Given the description of an element on the screen output the (x, y) to click on. 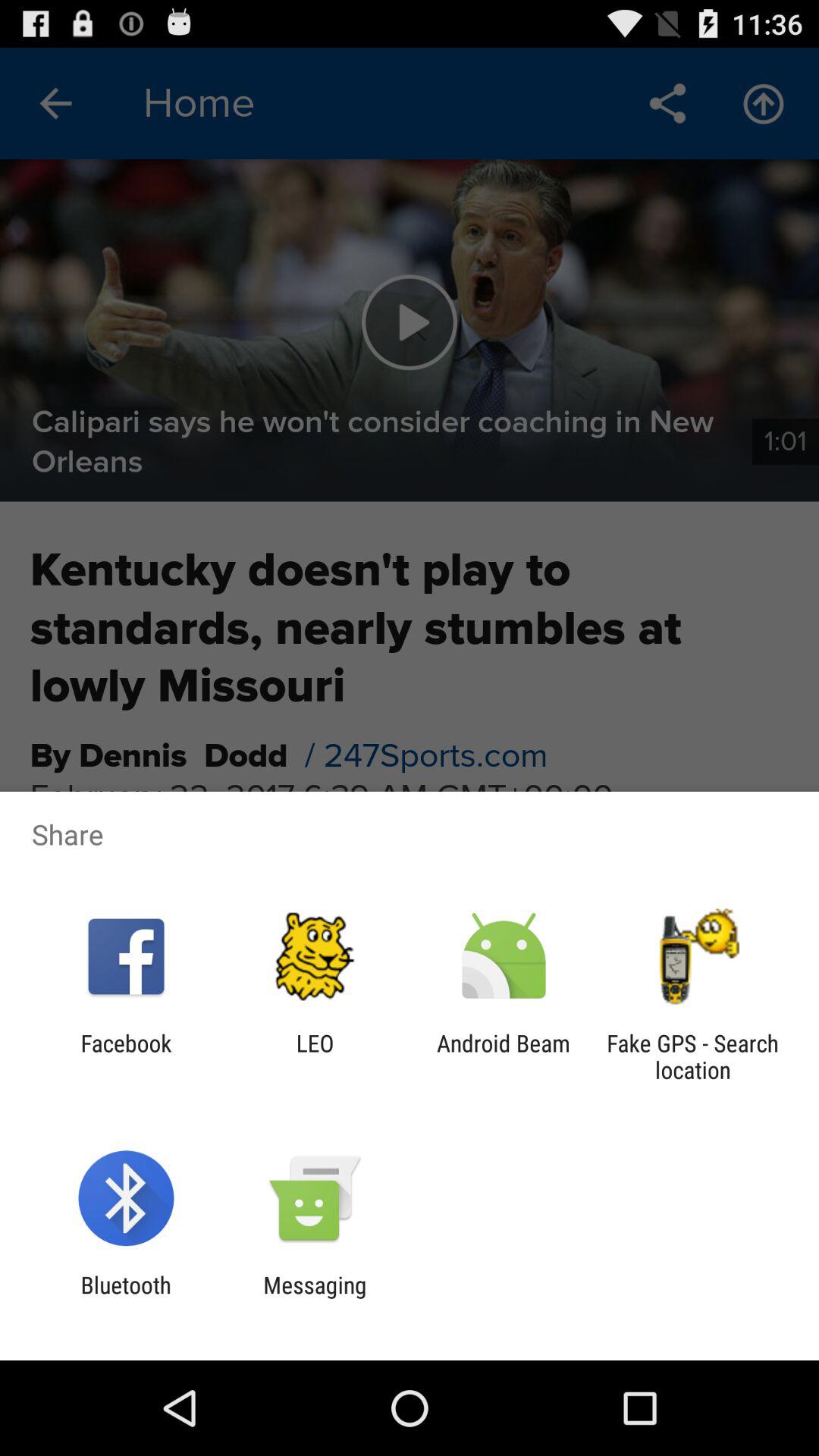
turn off the fake gps search at the bottom right corner (692, 1056)
